Given the description of an element on the screen output the (x, y) to click on. 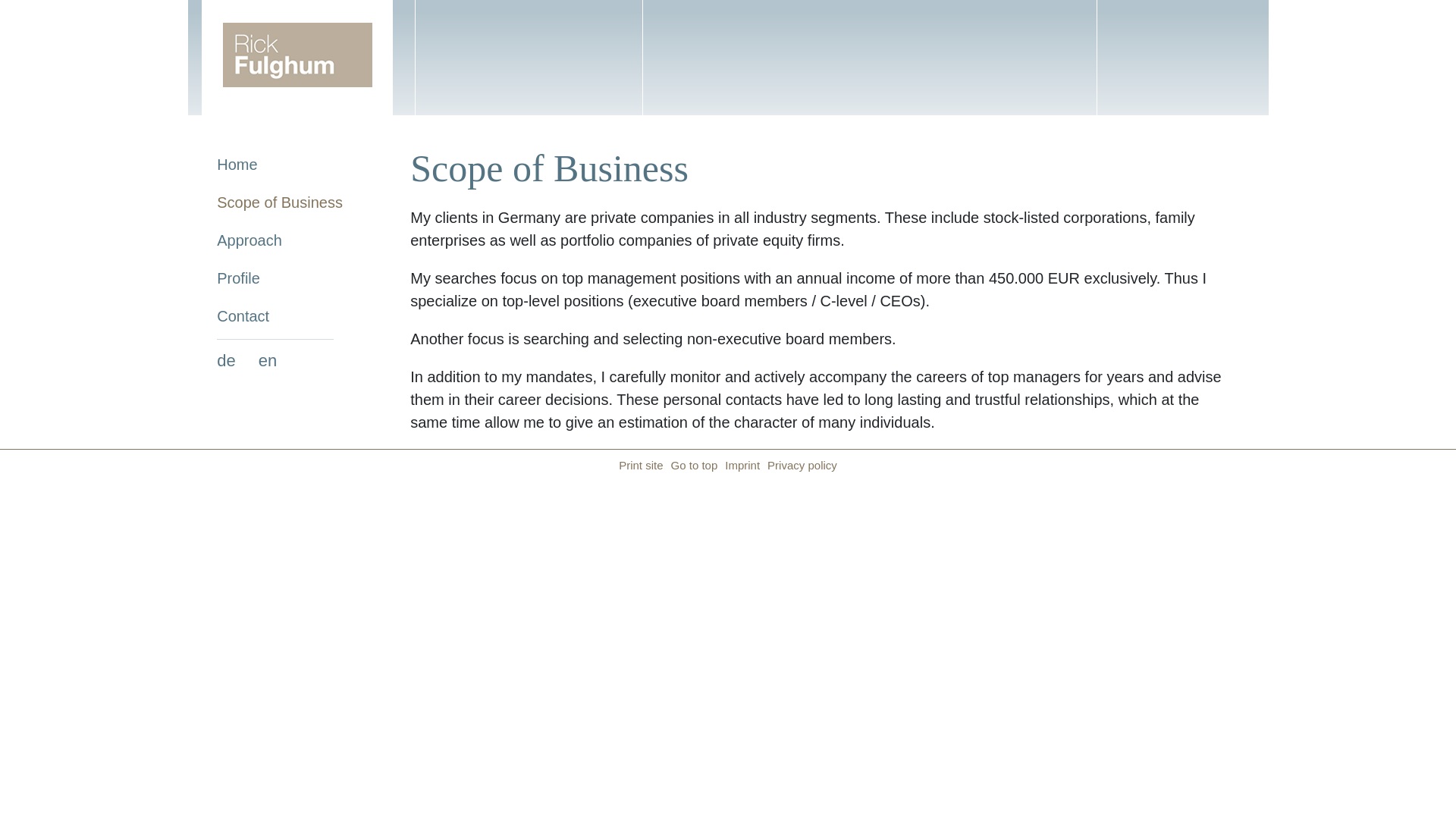
Privacy policy (798, 464)
Privacy policy (798, 464)
de (226, 360)
de (226, 360)
Go to top (694, 464)
Imprint (738, 464)
Profile (280, 278)
Approach (280, 240)
Contact (280, 315)
Print site (640, 464)
Imprint (738, 464)
en (267, 360)
Home (280, 164)
